Given the description of an element on the screen output the (x, y) to click on. 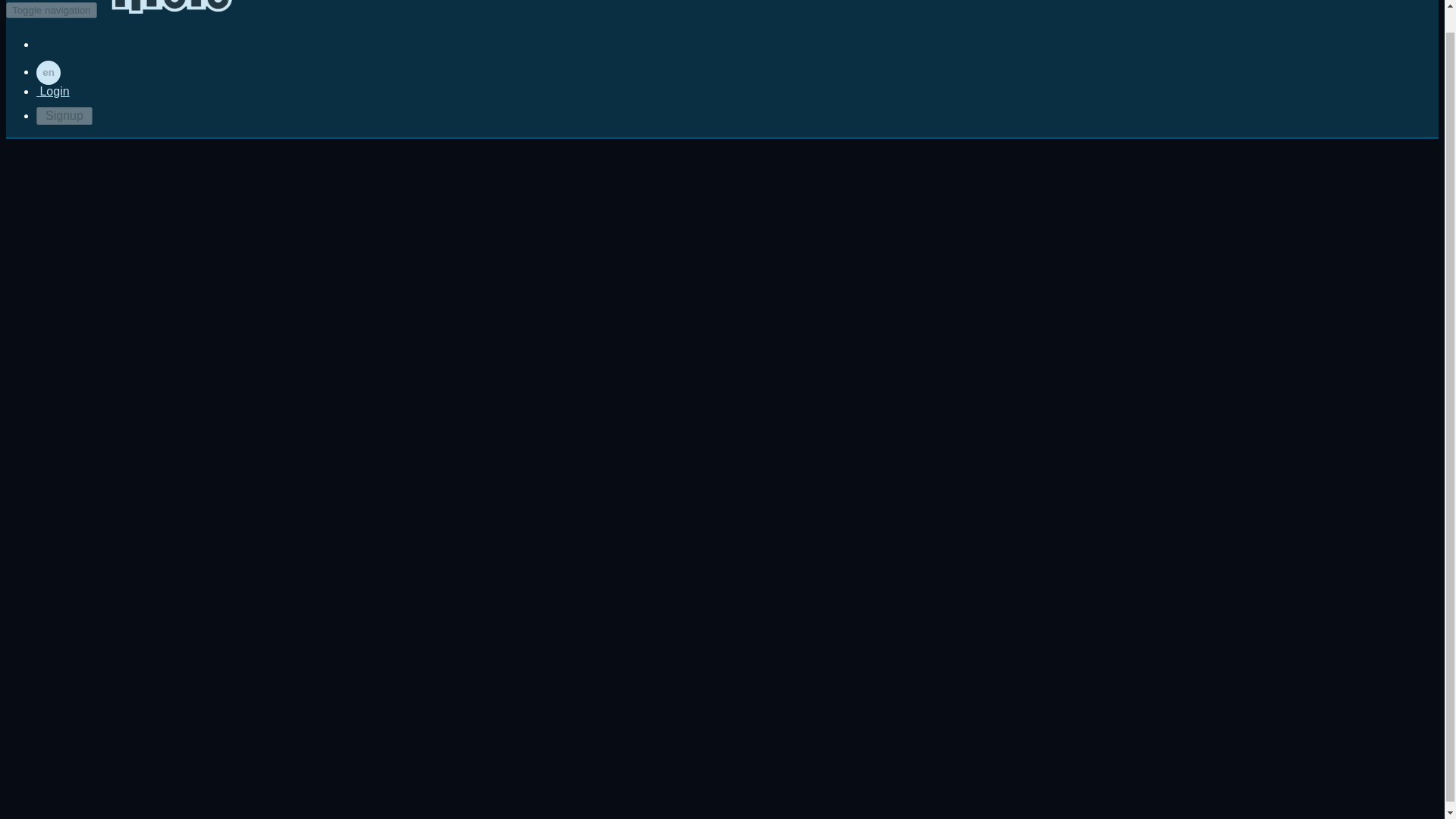
IO games (169, 6)
Toggle navigation (51, 10)
IO games (170, 9)
en (48, 72)
Signup (64, 116)
 Login (52, 91)
